Given the description of an element on the screen output the (x, y) to click on. 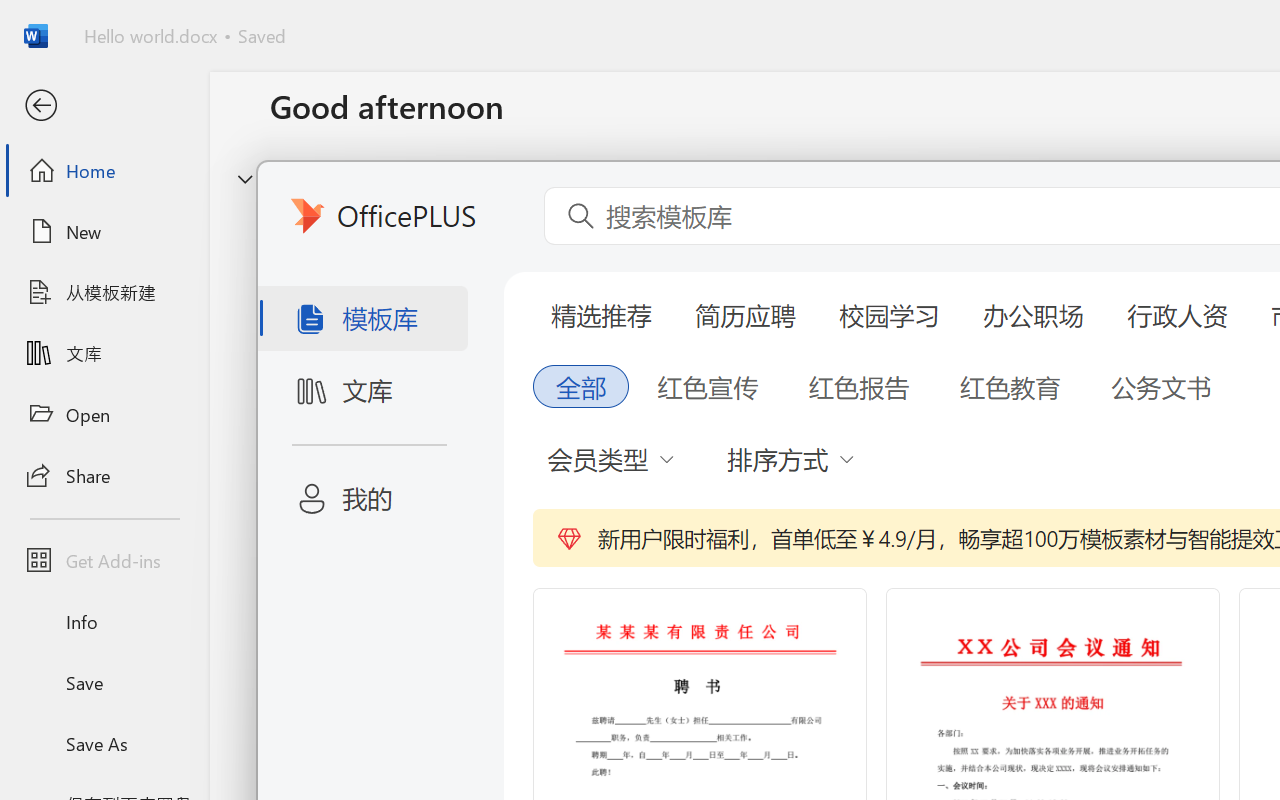
UGround_paper.pdf (1206, 52)
Poe (172, 348)
Notion (57, 200)
